Given the description of an element on the screen output the (x, y) to click on. 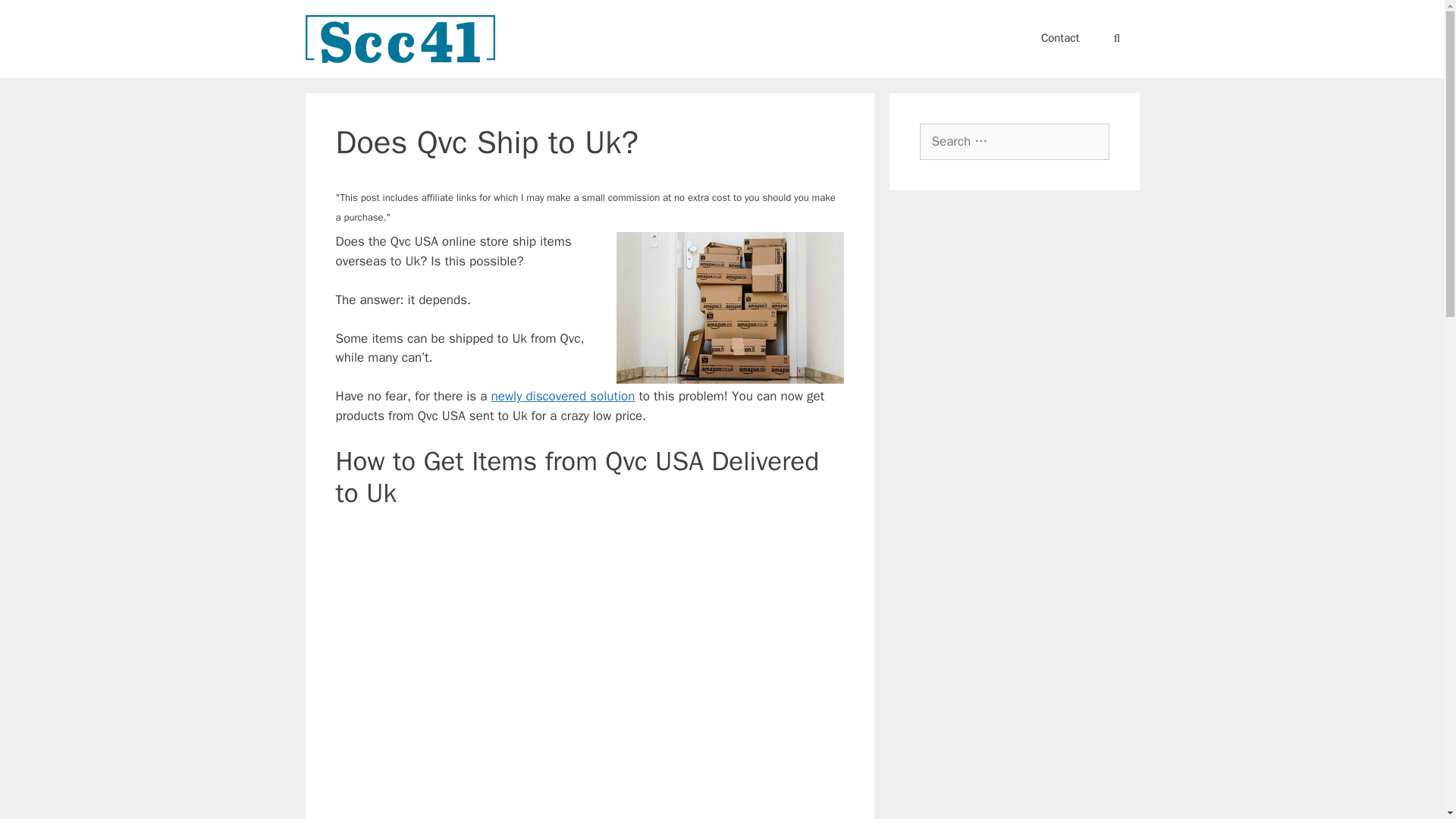
Search (33, 15)
Search for: (1013, 141)
newly discovered solution (563, 396)
scc41 (399, 39)
scc41 (399, 37)
Contact (1060, 37)
